Given the description of an element on the screen output the (x, y) to click on. 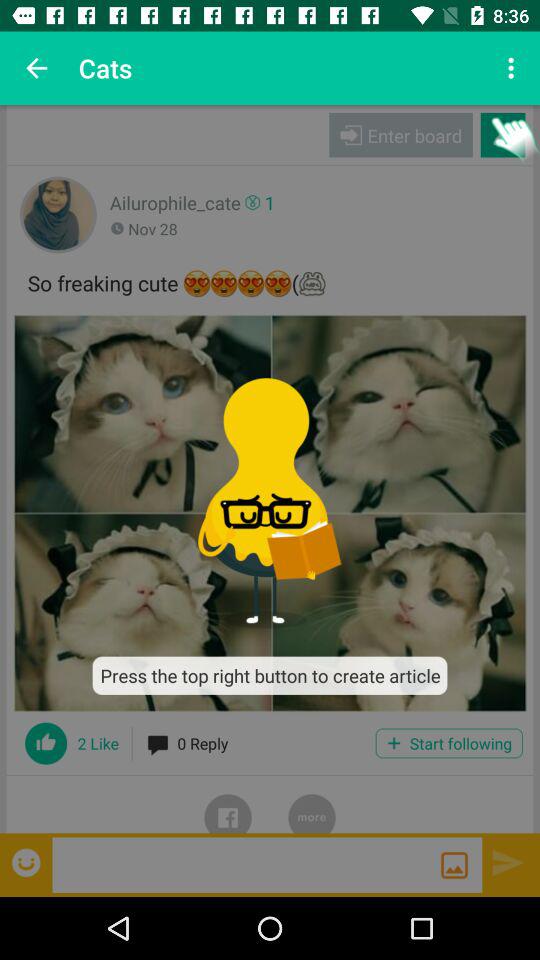
open emoji selection (28, 862)
